Given the description of an element on the screen output the (x, y) to click on. 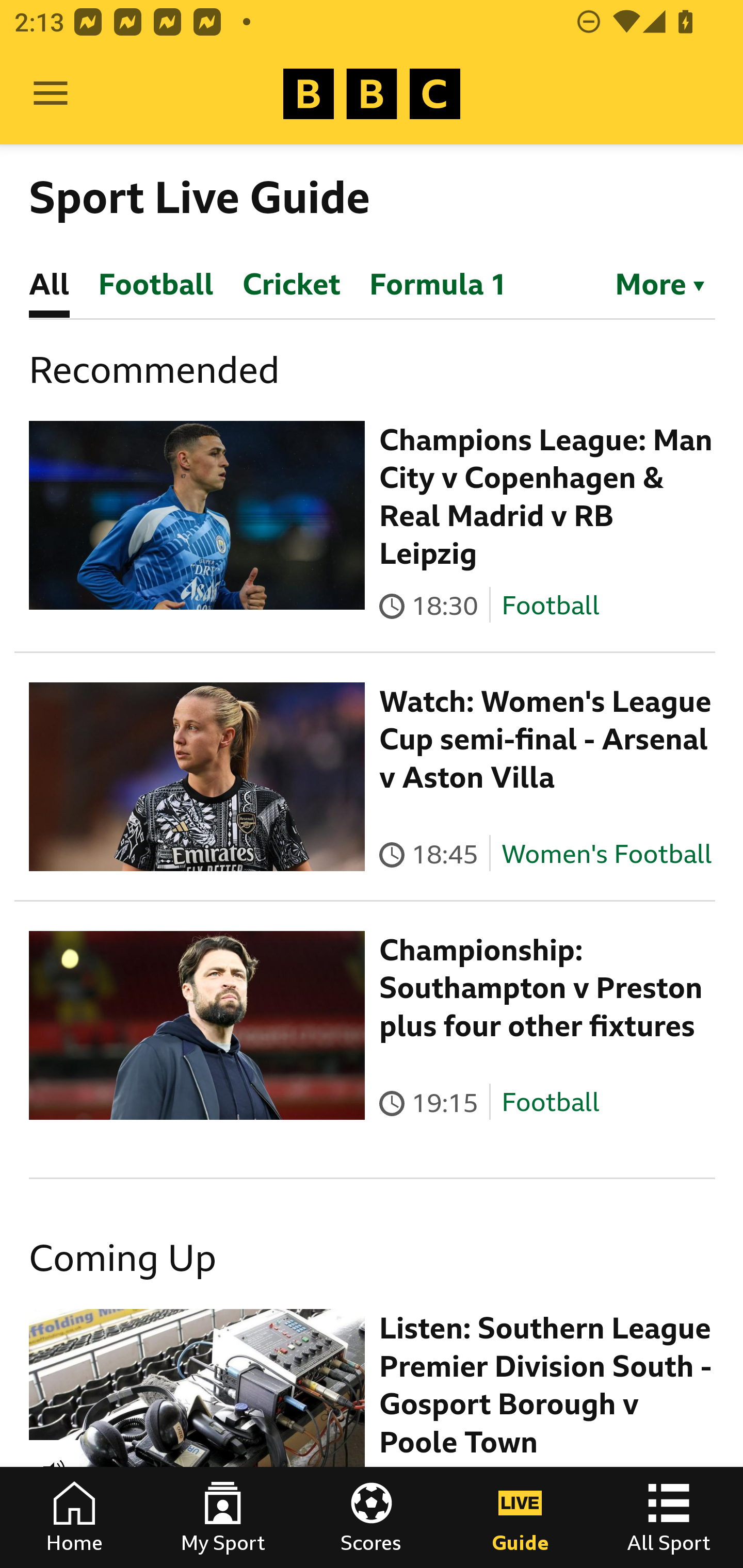
Open Menu (50, 93)
Football (550, 604)
Women's Football (606, 853)
Football (550, 1102)
Home (74, 1517)
My Sport (222, 1517)
Scores (371, 1517)
All Sport (668, 1517)
